Given the description of an element on the screen output the (x, y) to click on. 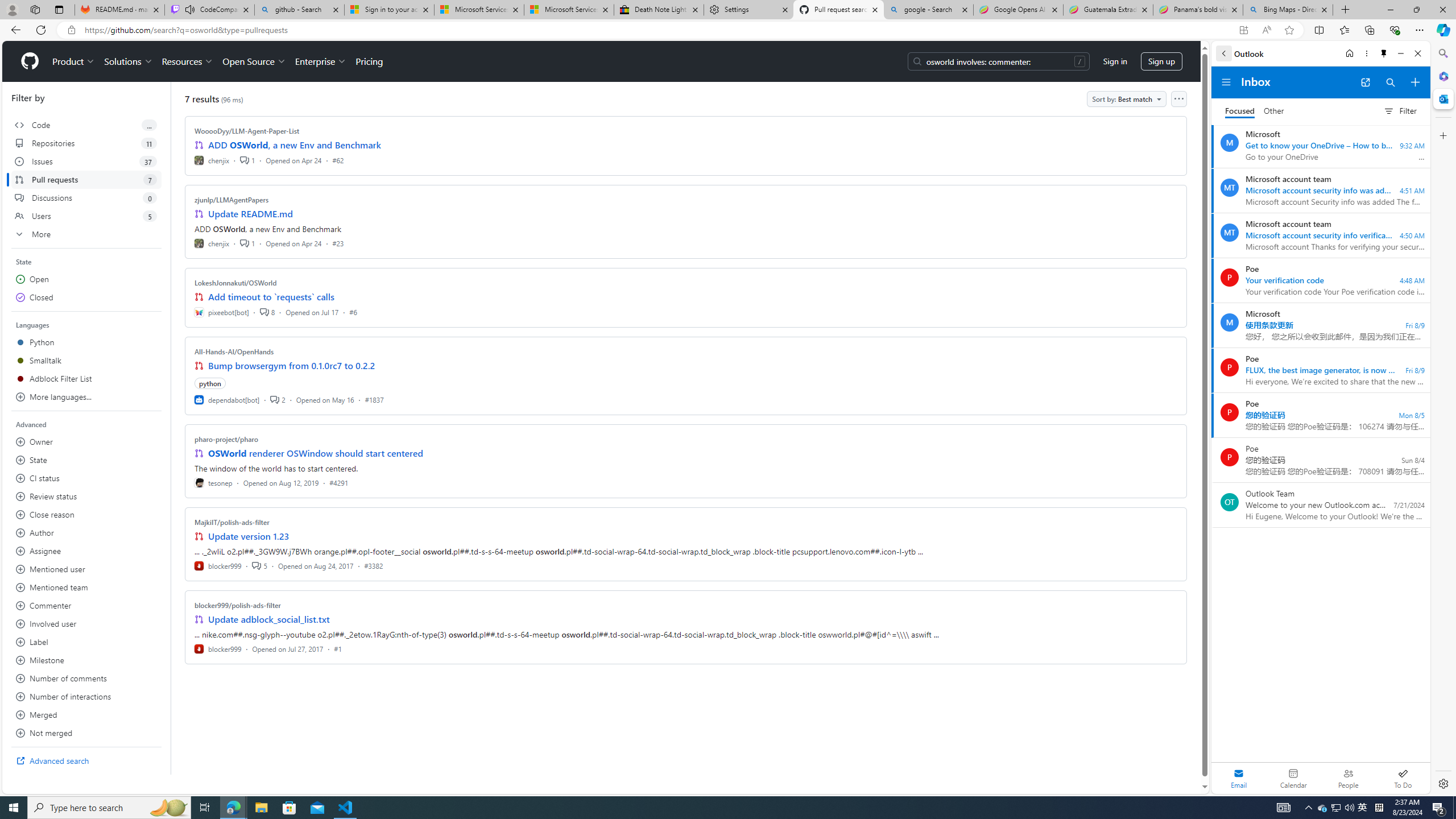
1 (246, 242)
Pricing (368, 60)
Open column options (1178, 98)
Homepage (29, 61)
Solutions (128, 60)
#1 (337, 648)
#6 (352, 311)
